Given the description of an element on the screen output the (x, y) to click on. 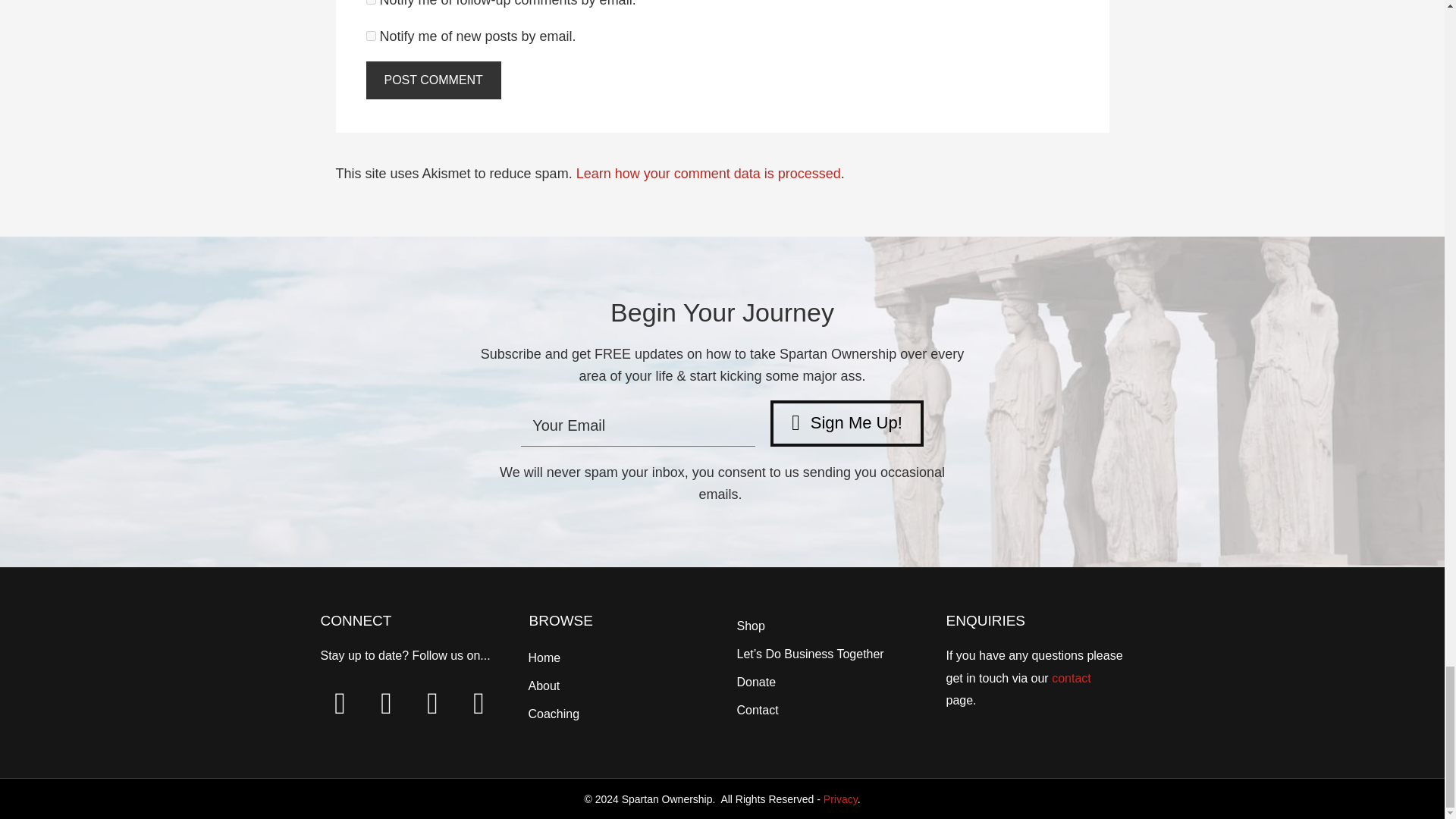
subscribe (370, 35)
Click Here (846, 423)
subscribe (370, 2)
Post Comment (432, 80)
